Given the description of an element on the screen output the (x, y) to click on. 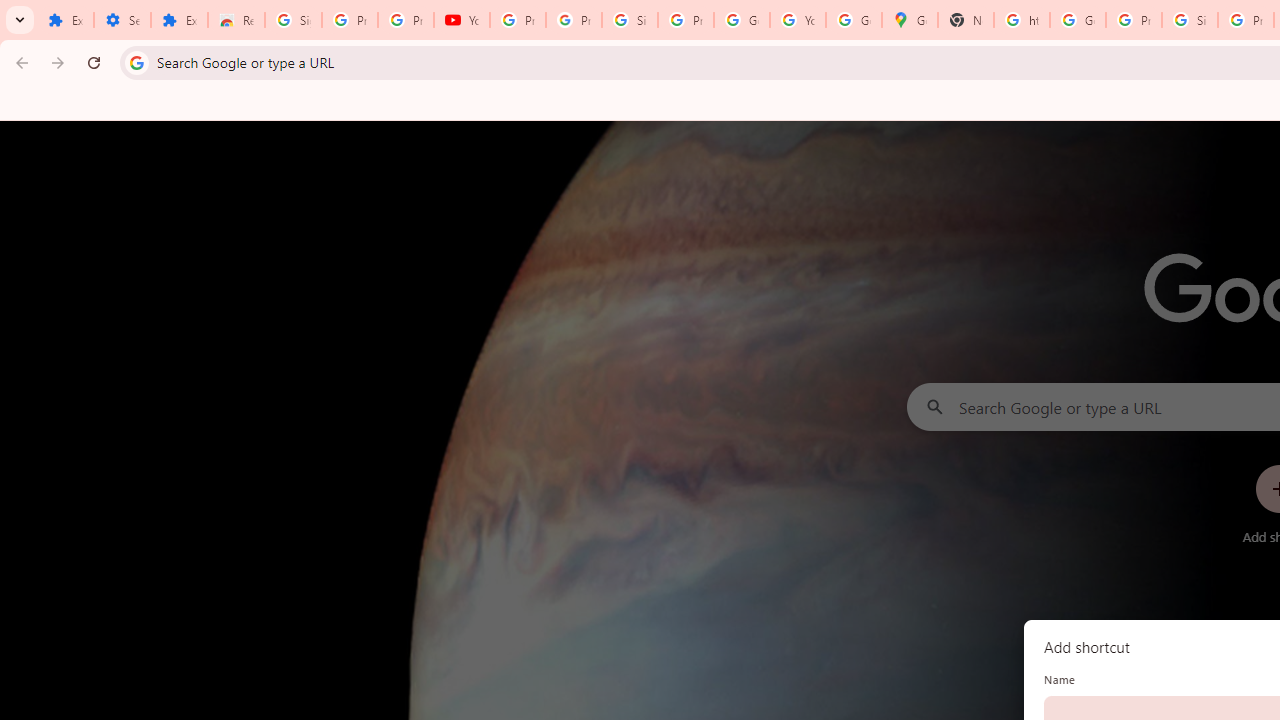
New Tab (966, 20)
Google Account (742, 20)
Extensions (65, 20)
Sign in - Google Accounts (293, 20)
